Given the description of an element on the screen output the (x, y) to click on. 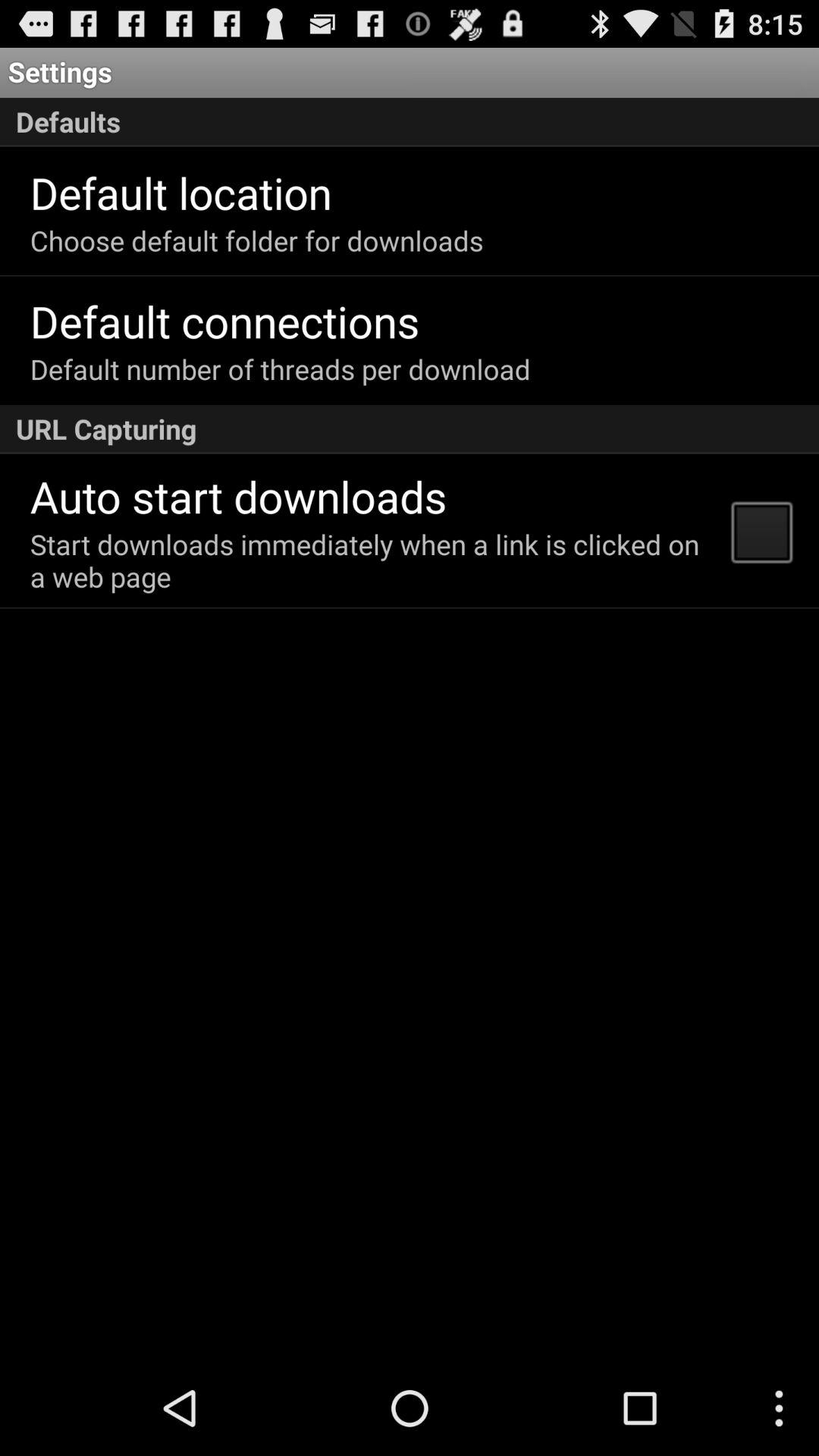
tap the app below default connections app (280, 368)
